Given the description of an element on the screen output the (x, y) to click on. 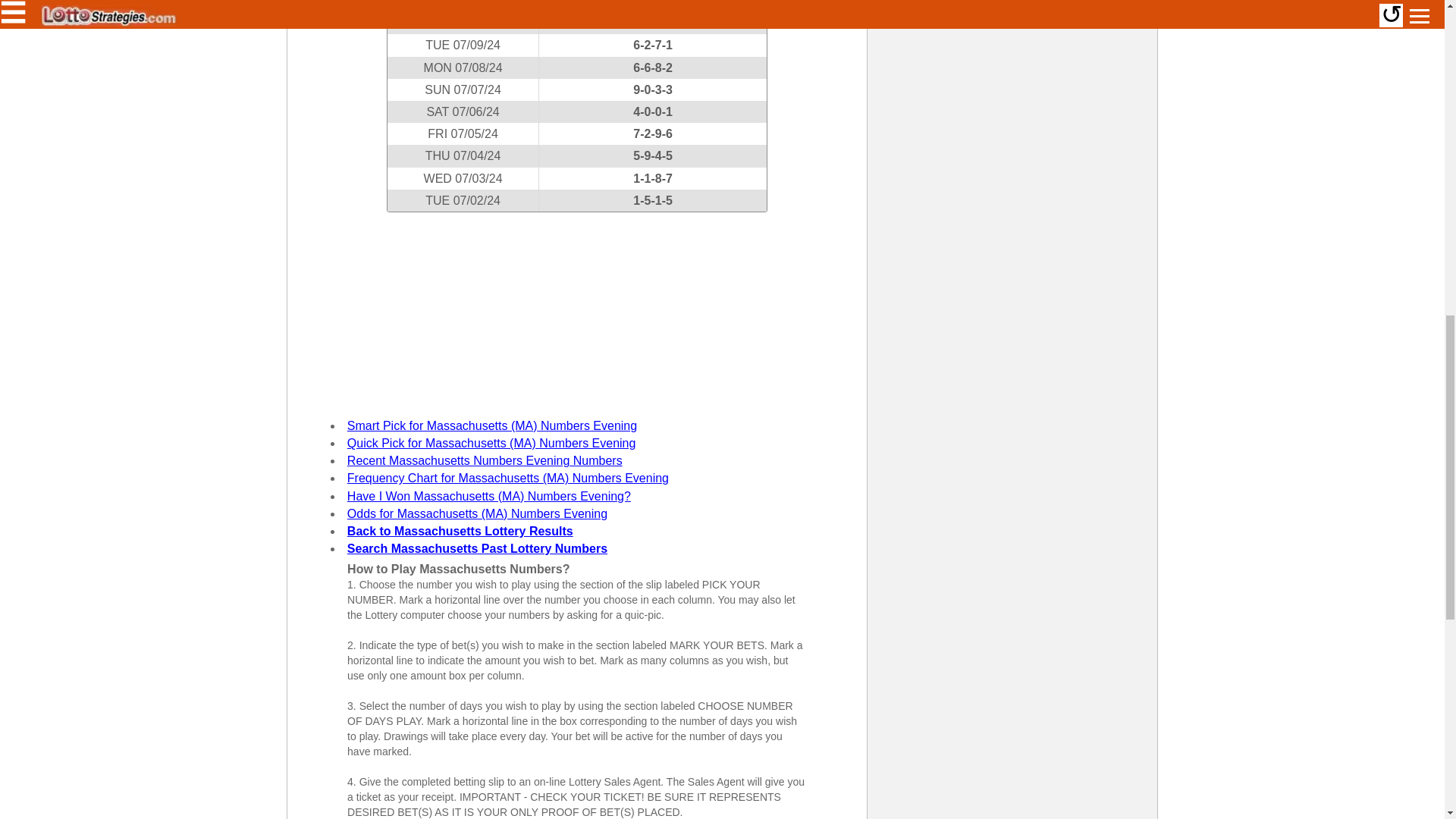
Advertisement (576, 307)
